Given the description of an element on the screen output the (x, y) to click on. 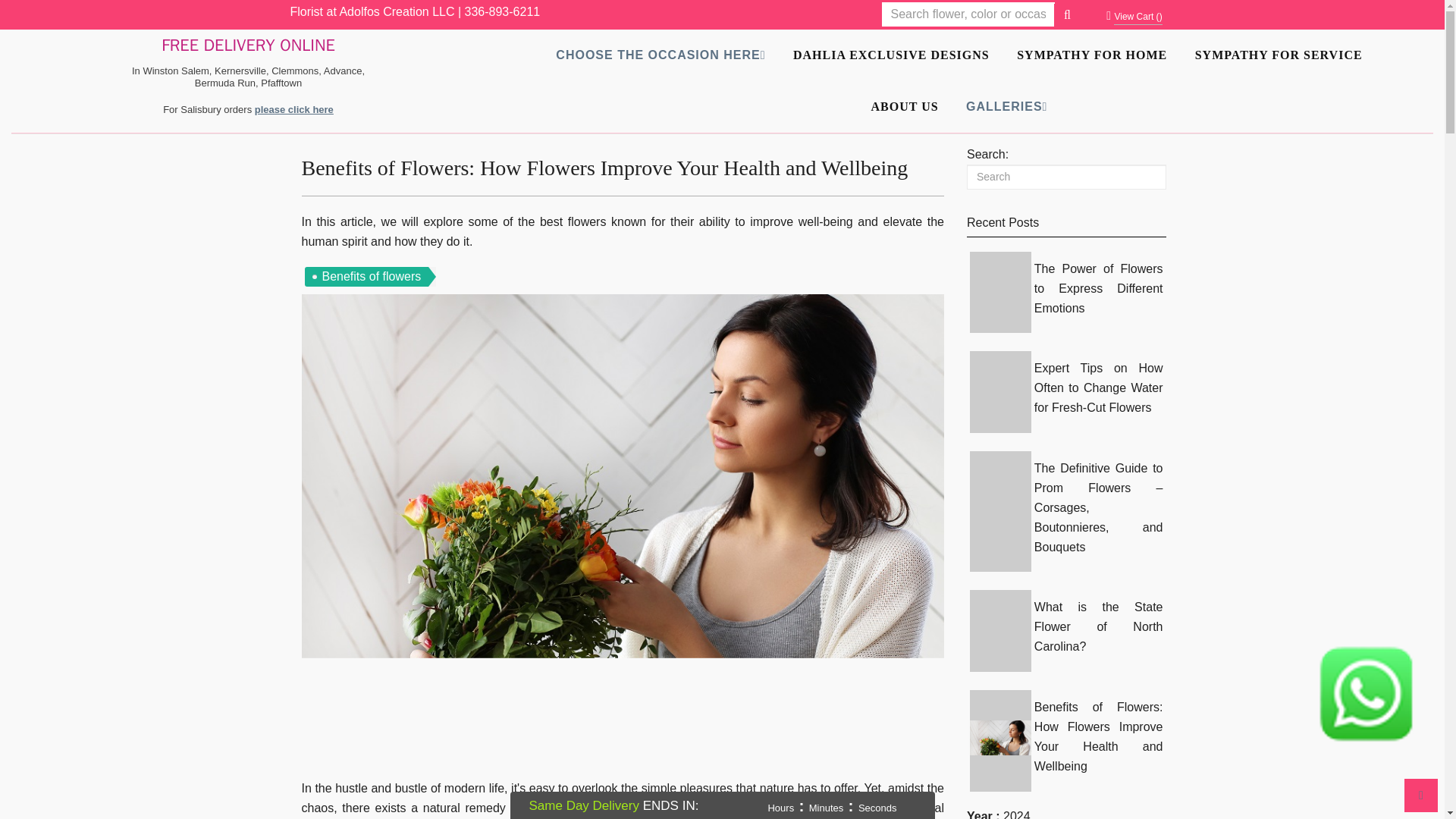
336-893-6211 (502, 11)
CHOOSE THE OCCASION HERE (660, 49)
please click here (293, 109)
